Given the description of an element on the screen output the (x, y) to click on. 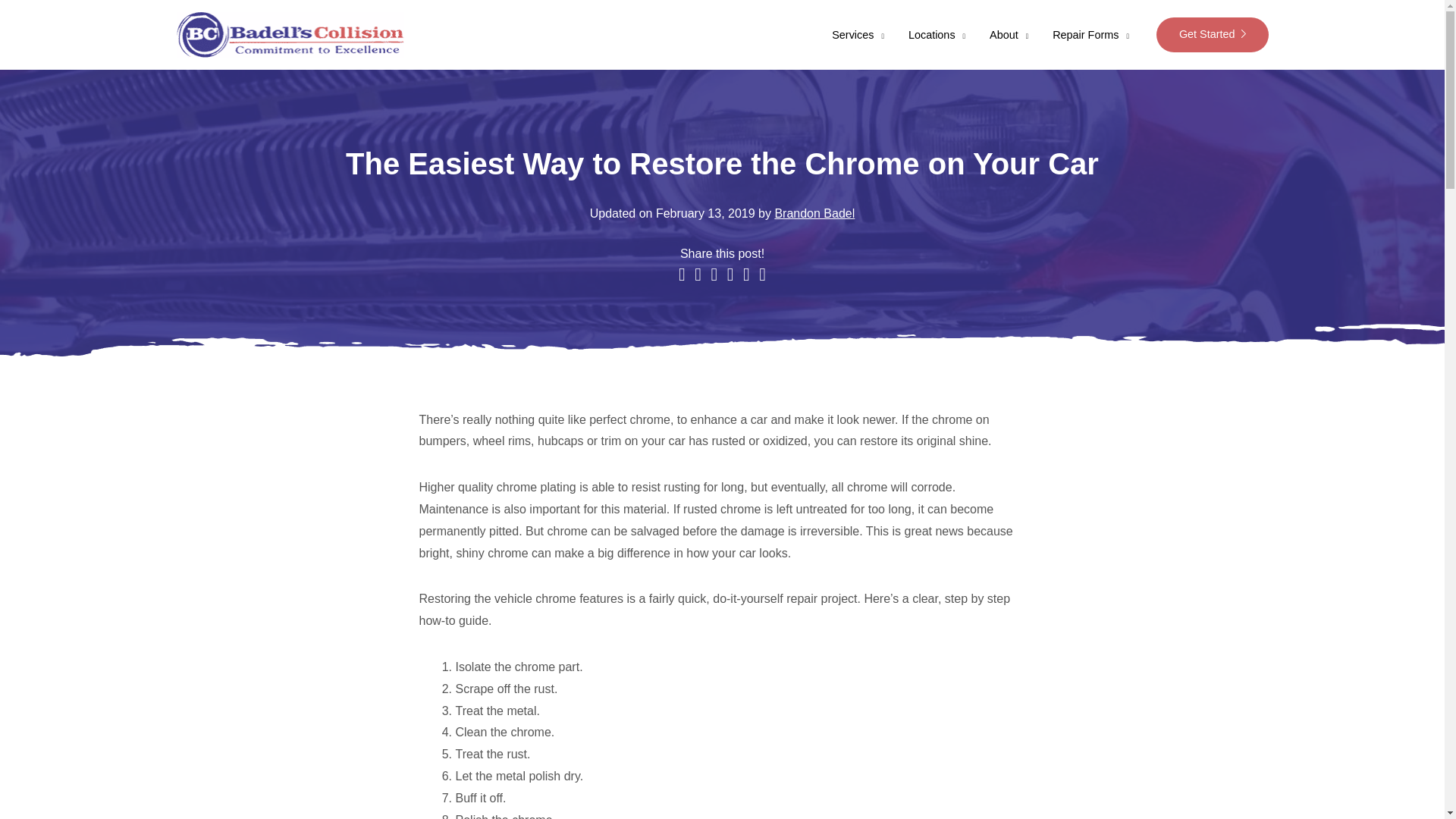
Locations (936, 34)
About (1008, 34)
Author Bio (814, 213)
Repair Forms (1091, 34)
Services (857, 34)
Get Started (1212, 34)
